Given the description of an element on the screen output the (x, y) to click on. 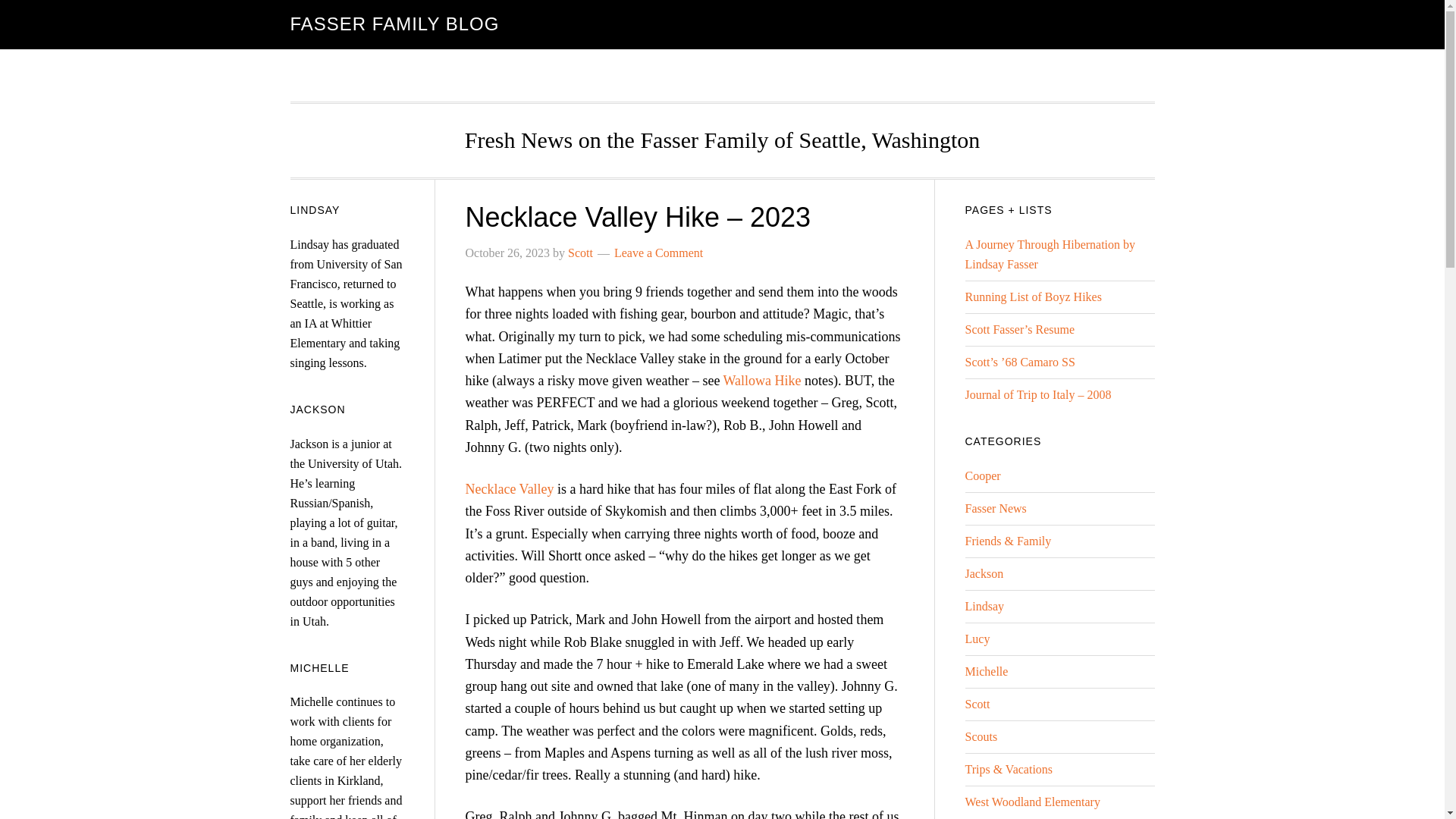
Michelle (985, 671)
Running List of Boyz Hikes (1031, 296)
Lindsay (983, 605)
Wallowa Hike (762, 380)
Cooper (981, 475)
Leave a Comment (658, 252)
Lucy (976, 638)
Scott (976, 703)
Fasser News (994, 508)
FASSER FAMILY BLOG (394, 23)
